Given the description of an element on the screen output the (x, y) to click on. 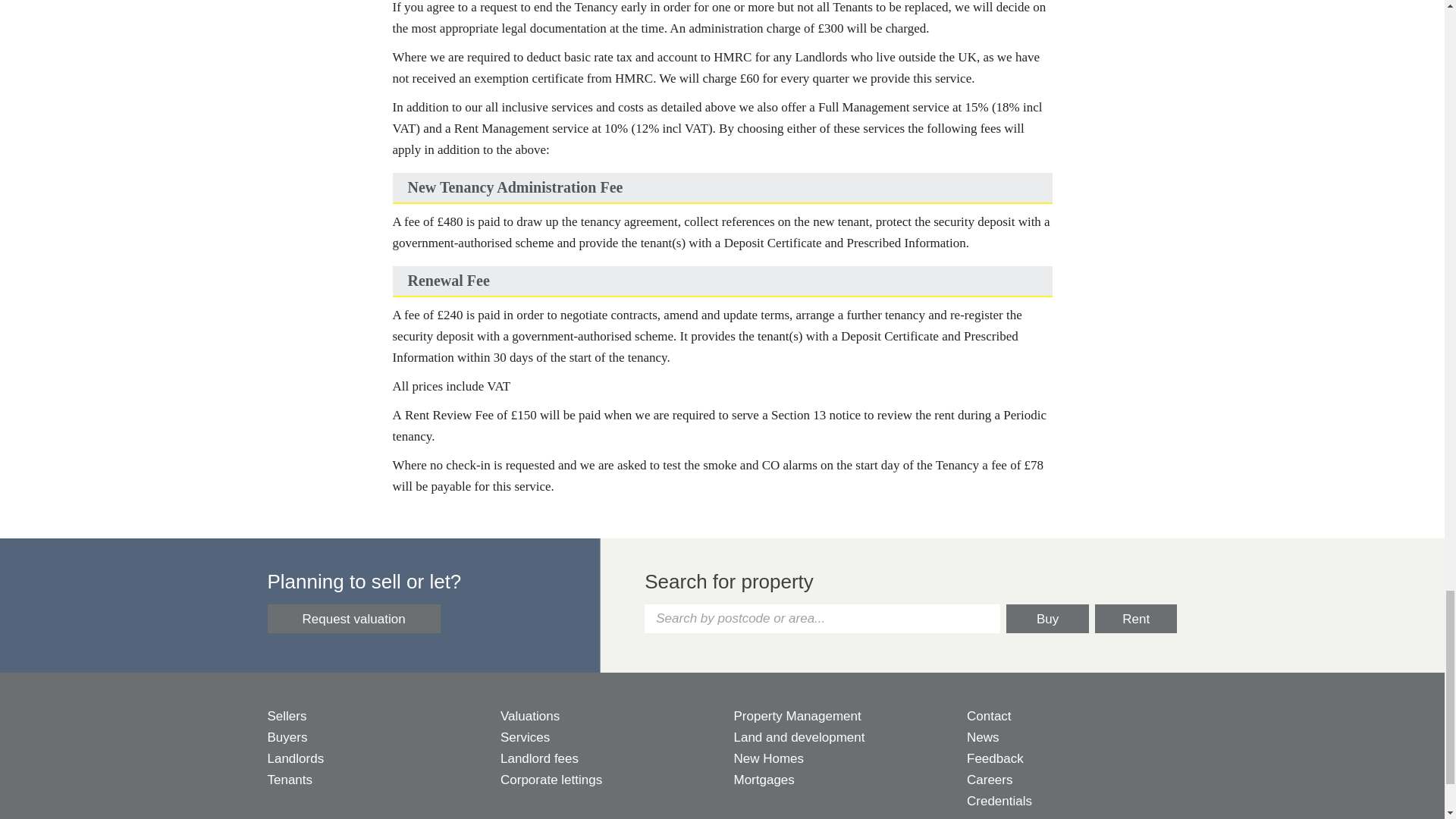
Buy (1047, 618)
Request valuation (352, 618)
Services (605, 737)
Corporate Lettings (605, 780)
New Homes (838, 758)
Rent (1135, 618)
Corporate lettings (605, 780)
Land and development (838, 737)
Feedback (1071, 758)
Buyers (371, 737)
